Given the description of an element on the screen output the (x, y) to click on. 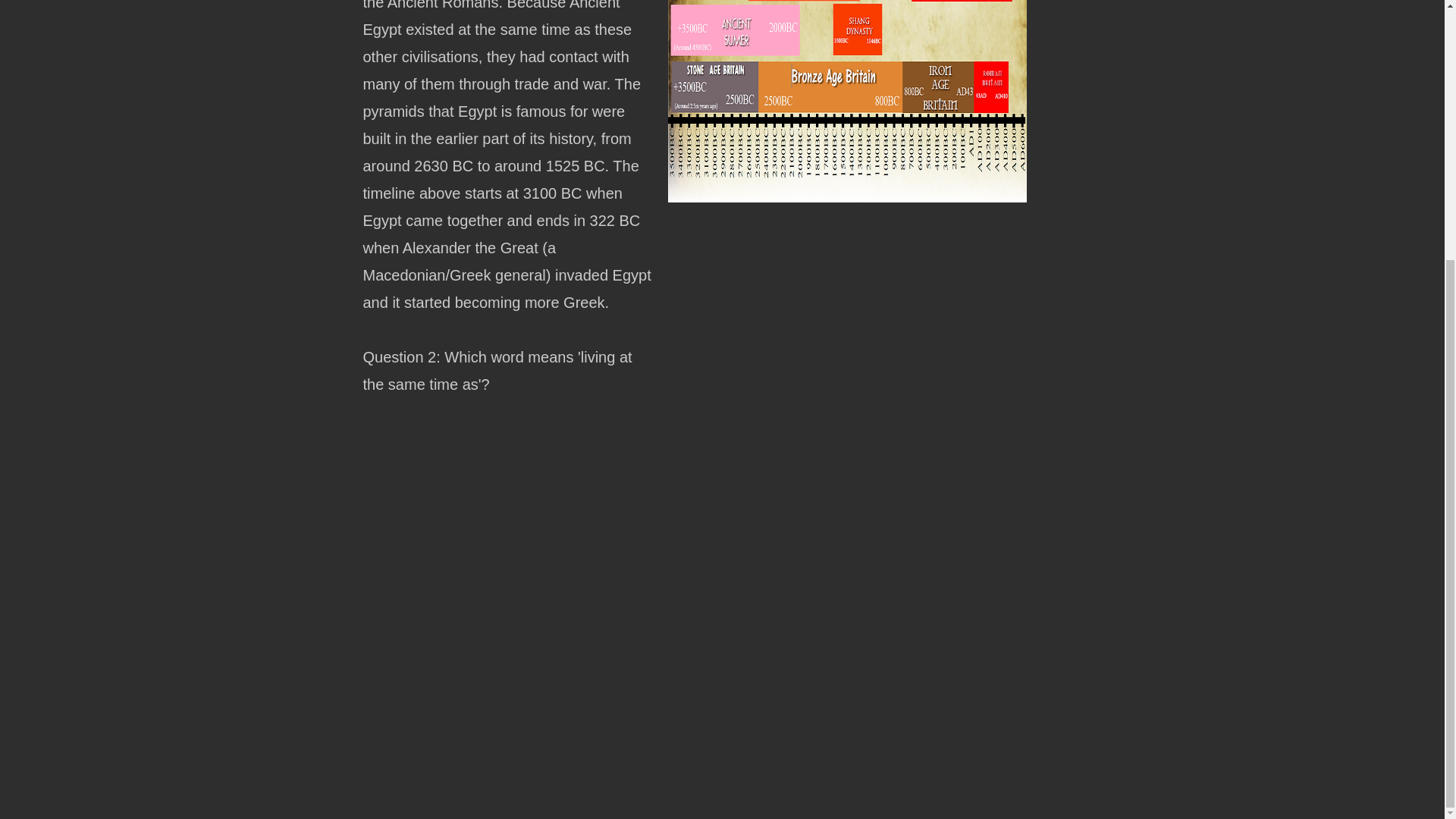
Y4 Egyptian Timeline.PNG (846, 101)
